Given the description of an element on the screen output the (x, y) to click on. 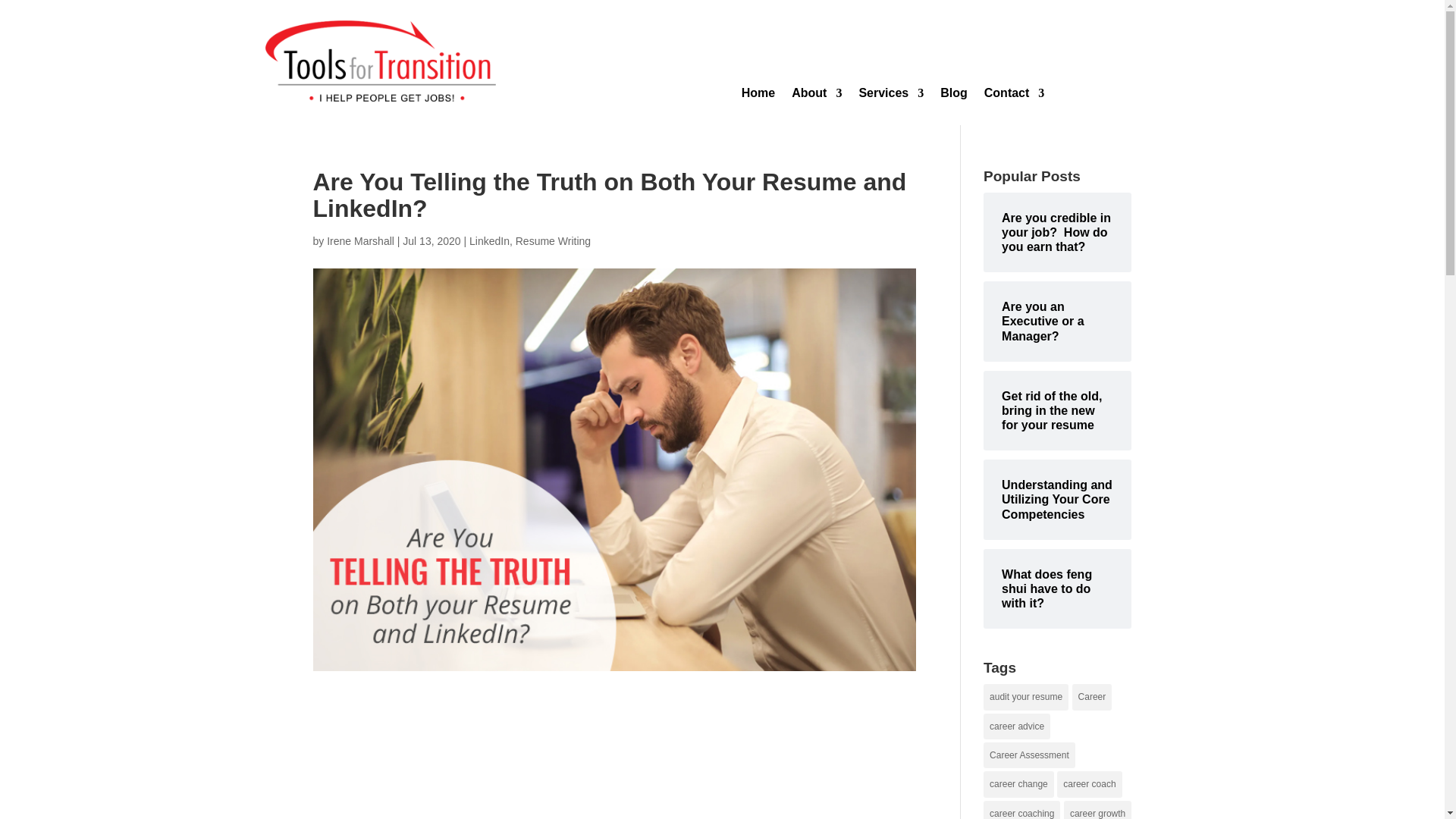
About (816, 95)
Are you credible in your job?  How do you earn that? (1057, 232)
Tools for Transition Logo 2023 (380, 60)
Resume Writing (553, 241)
Home (757, 95)
Irene Marshall (360, 241)
Are You Telling the Truth on Both Your Resume and LinkedIn? (614, 760)
LinkedIn (488, 241)
Contact (1014, 95)
Posts by Irene Marshall (360, 241)
